Given the description of an element on the screen output the (x, y) to click on. 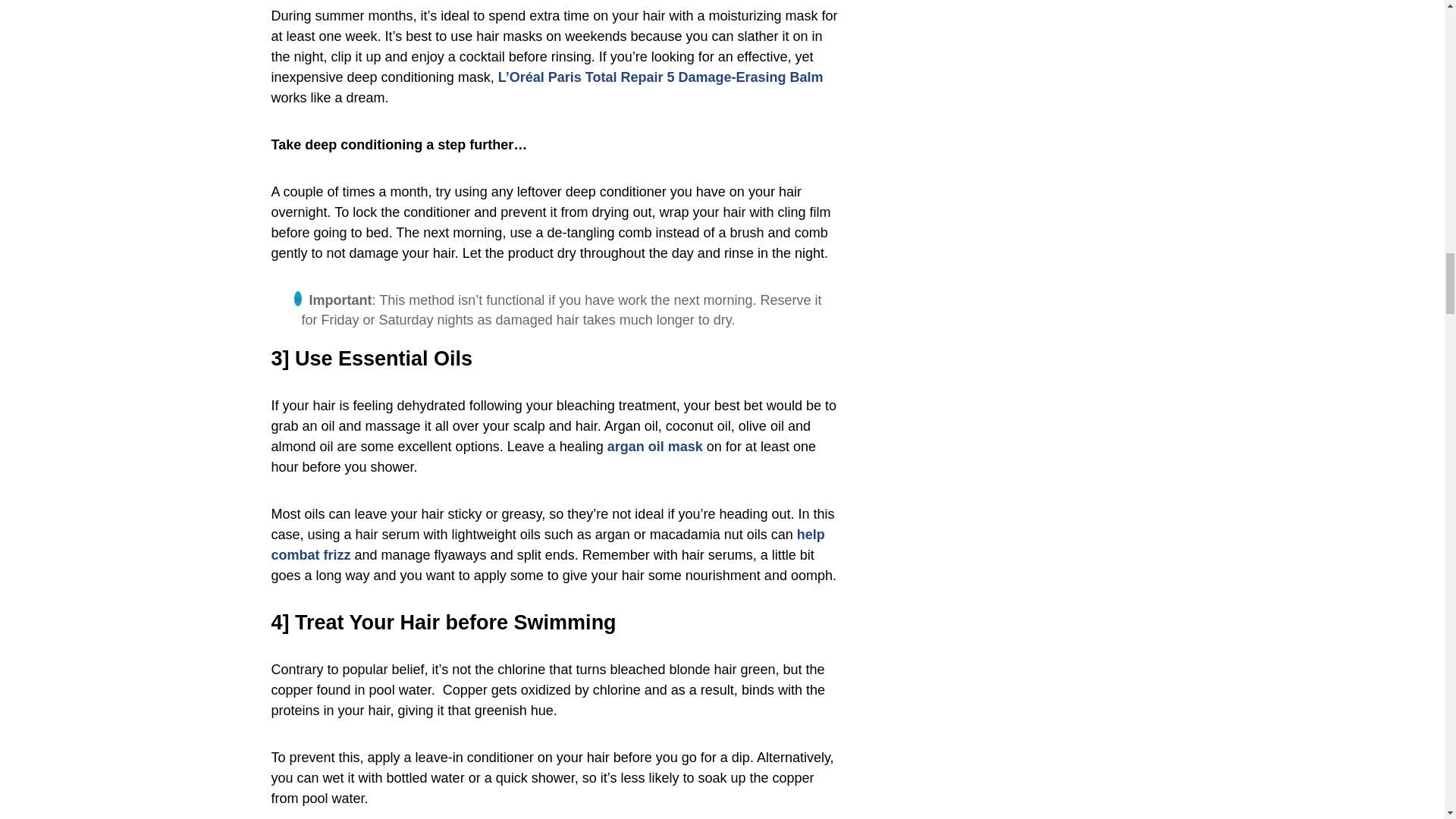
argan oil mask (655, 446)
help combat frizz (547, 544)
